Given the description of an element on the screen output the (x, y) to click on. 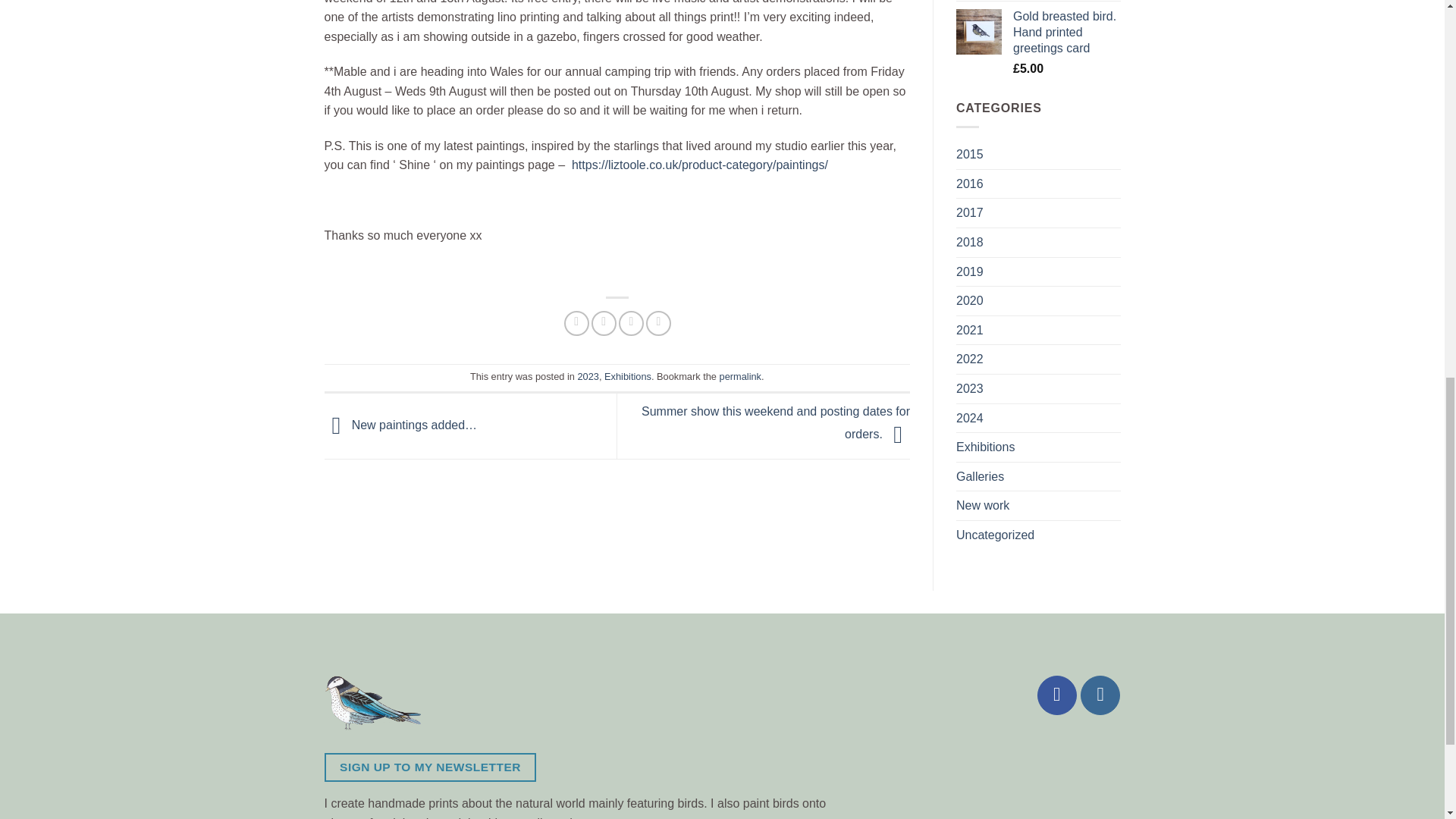
Permalink to Next exhibiton and a camping trip (740, 376)
Pin on Pinterest (658, 323)
Share on Facebook (576, 323)
Follow on Instagram (1099, 694)
Share on Twitter (603, 323)
Follow on Facebook (1056, 694)
Email to a Friend (630, 323)
